Given the description of an element on the screen output the (x, y) to click on. 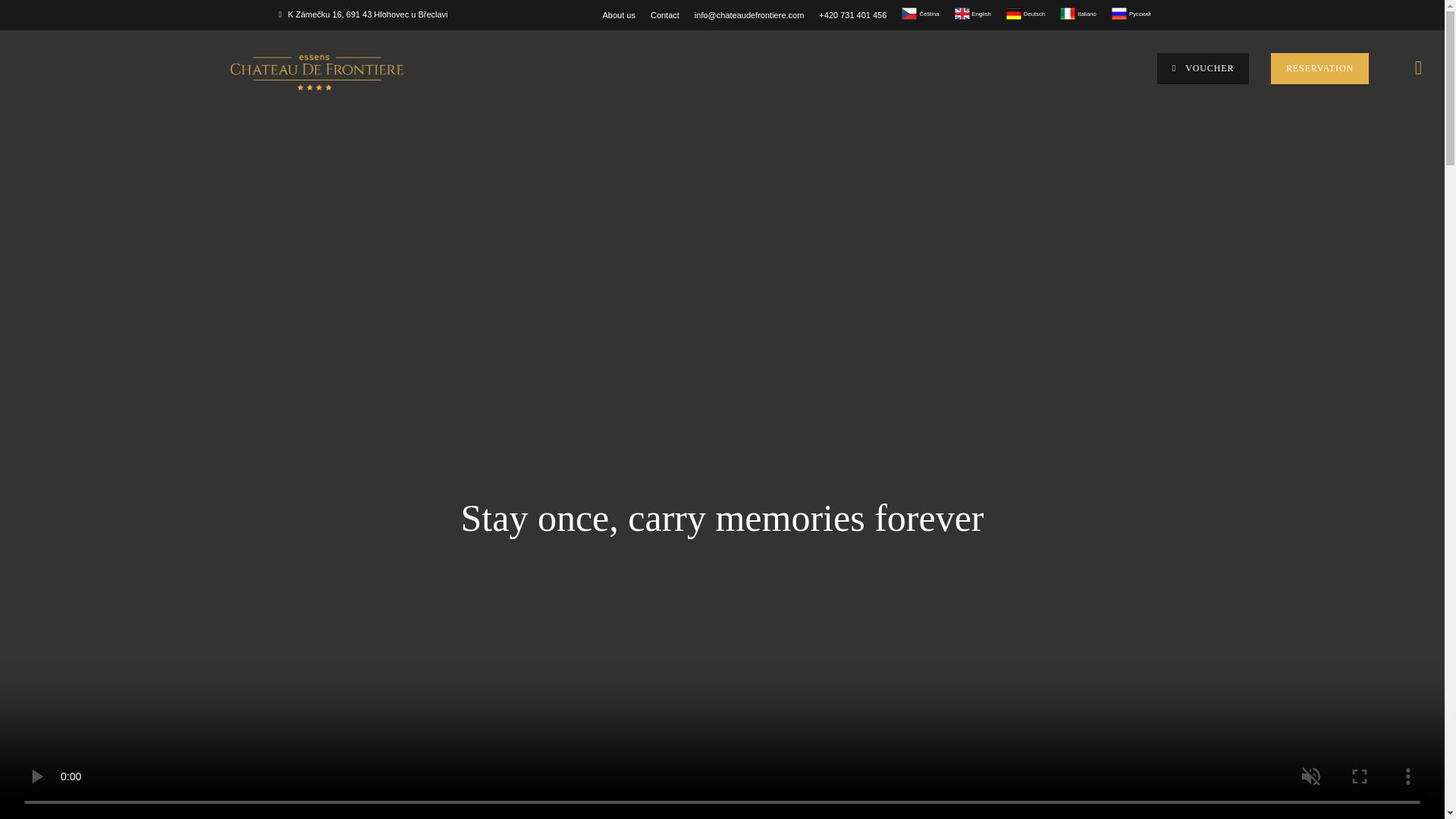
RESERVATION (1319, 68)
Deutsch (1025, 12)
English (971, 12)
About us (618, 14)
Contact (664, 14)
Italiano (1067, 13)
Deutsch (1014, 13)
English (961, 13)
VOUCHER (1203, 68)
Italiano (1077, 12)
